Given the description of an element on the screen output the (x, y) to click on. 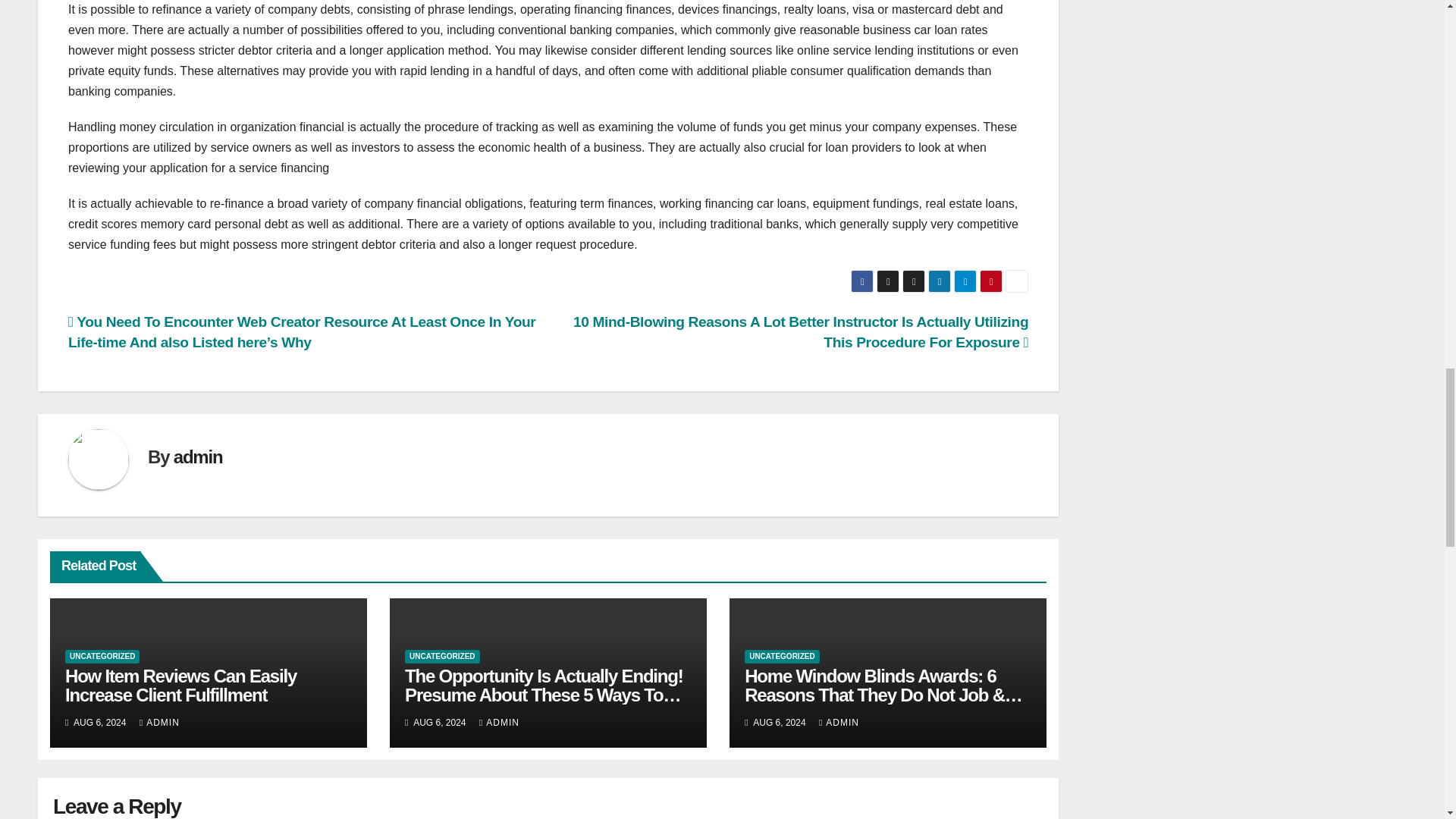
ADMIN (499, 722)
How Item Reviews Can Easily Increase Client Fulfillment (181, 685)
UNCATEGORIZED (441, 656)
UNCATEGORIZED (102, 656)
ADMIN (838, 722)
admin (197, 456)
ADMIN (159, 722)
UNCATEGORIZED (781, 656)
